Given the description of an element on the screen output the (x, y) to click on. 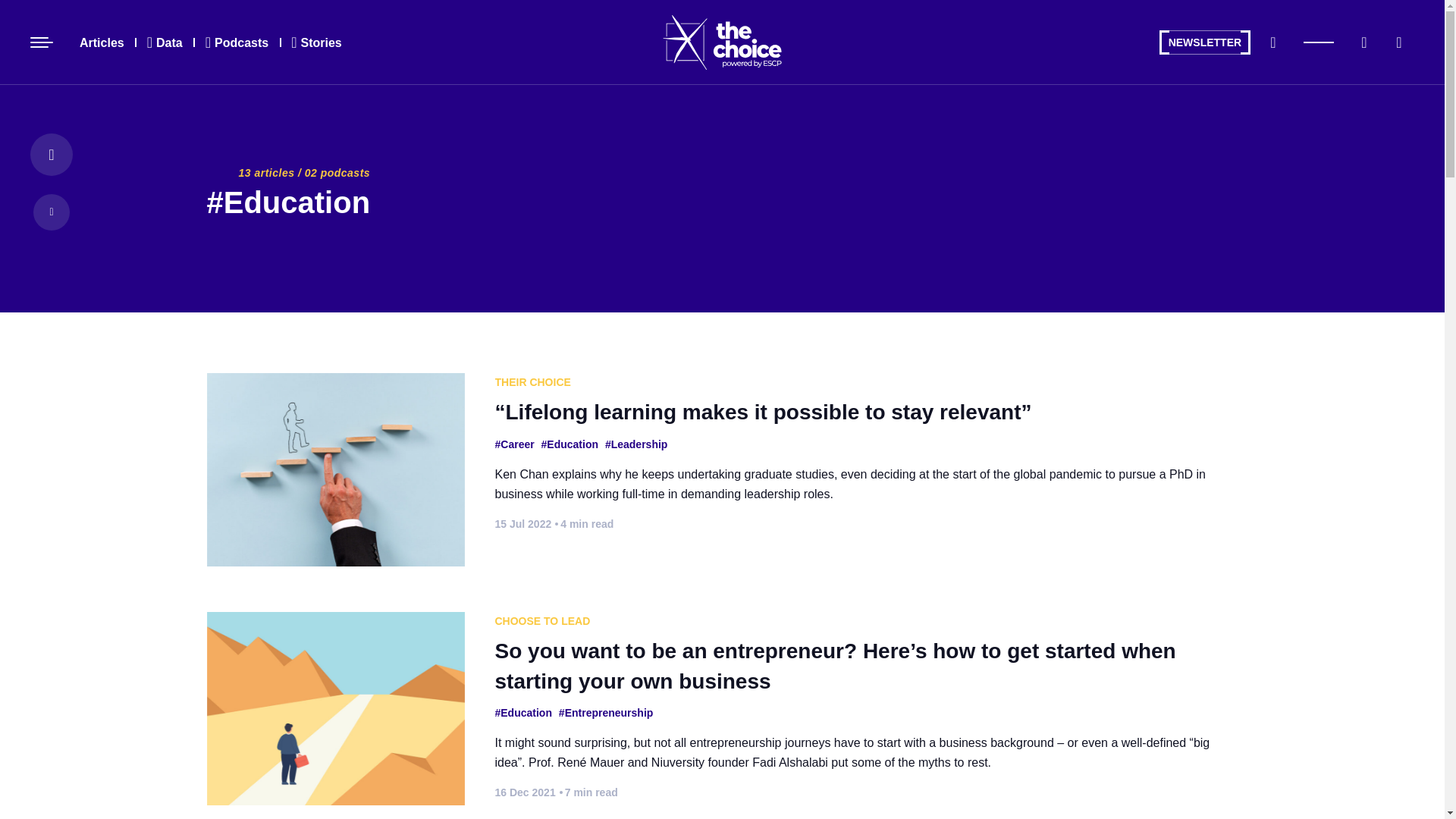
Articles (101, 42)
Share this page (1398, 42)
Search (1272, 42)
Bookmark (1363, 42)
NEWSLETTER (1204, 42)
Podcasts (237, 42)
Stories (316, 42)
Data (164, 42)
